Given the description of an element on the screen output the (x, y) to click on. 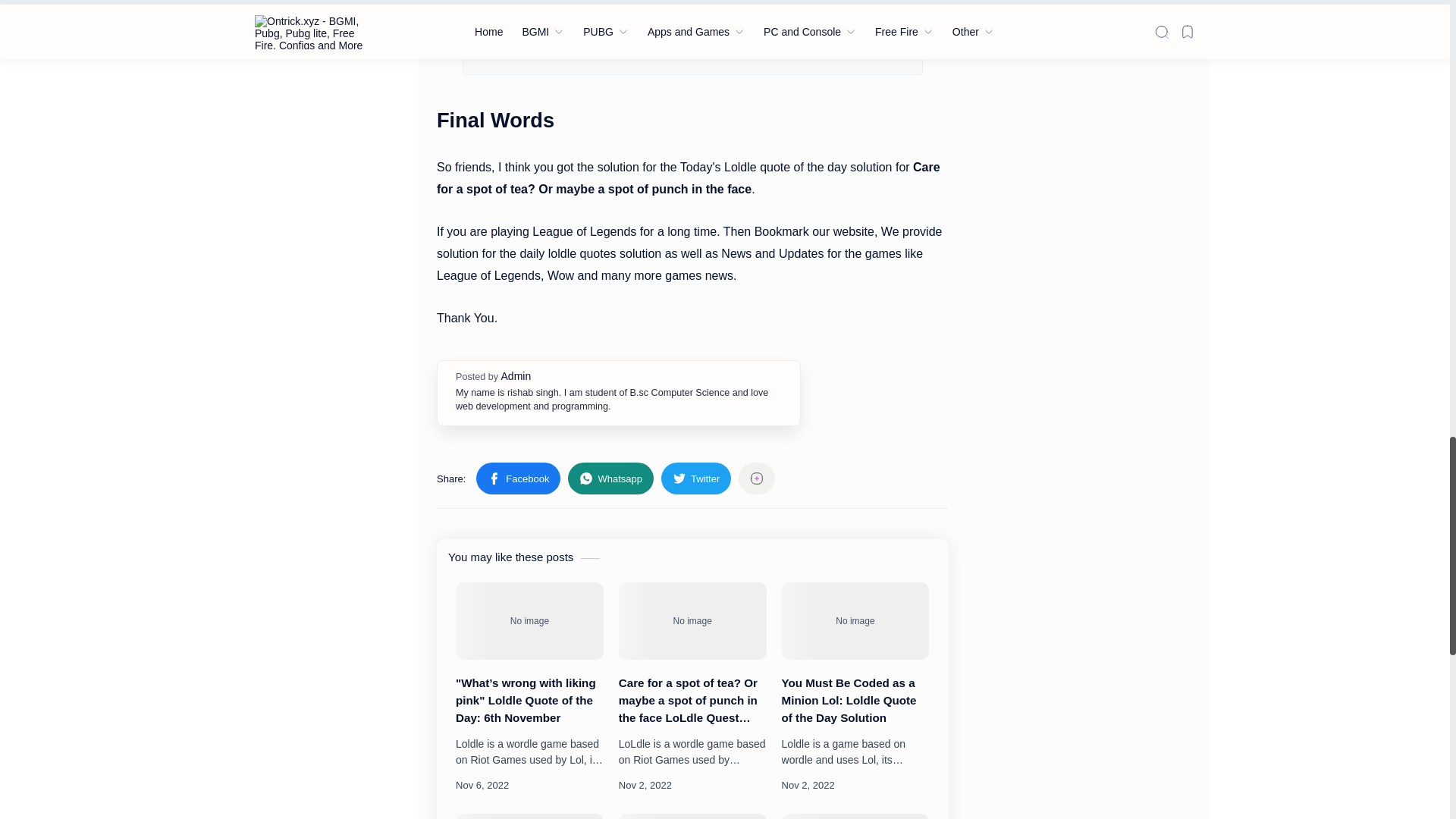
LoLdle Quote of the Day:  (529, 816)
